Given the description of an element on the screen output the (x, y) to click on. 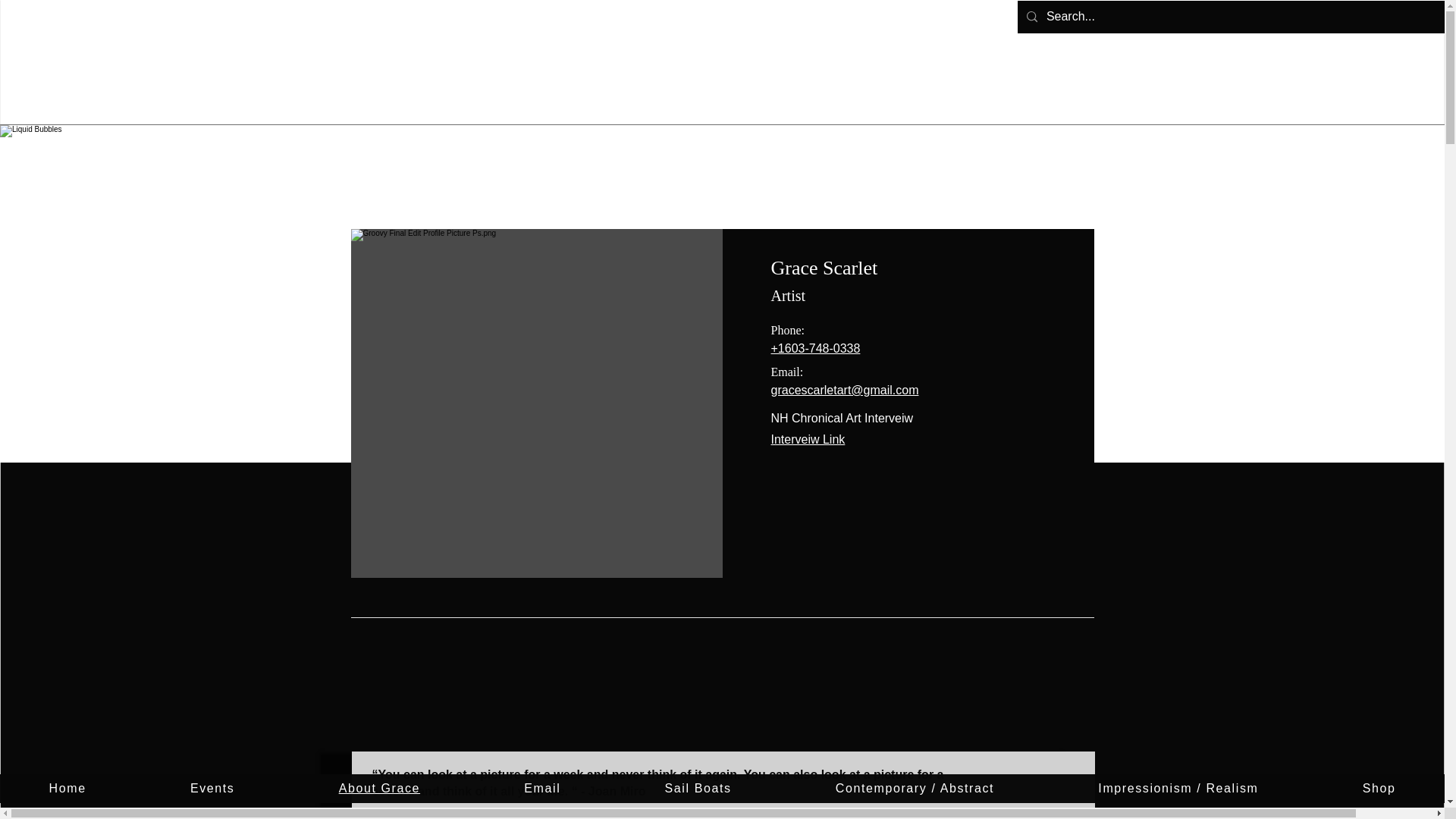
Shop (1378, 788)
Email (543, 788)
Events (212, 788)
Interveiw Link (807, 439)
Sail Boats (697, 788)
Home (67, 788)
About Grace (378, 788)
